Given the description of an element on the screen output the (x, y) to click on. 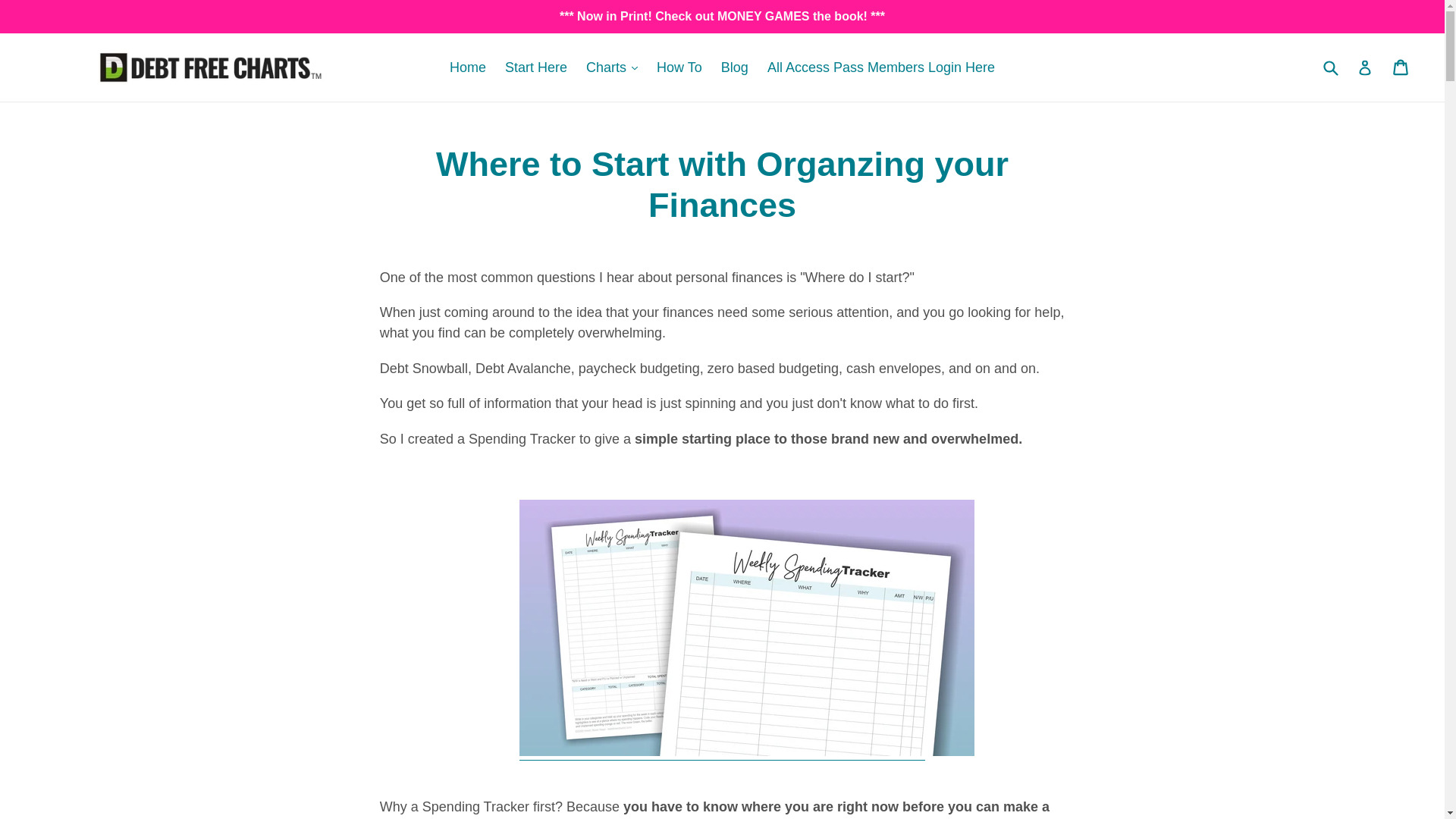
Start Here (536, 66)
Blog (734, 66)
Home (467, 66)
All Access Pass Members Login Here (881, 66)
How To (679, 66)
